Given the description of an element on the screen output the (x, y) to click on. 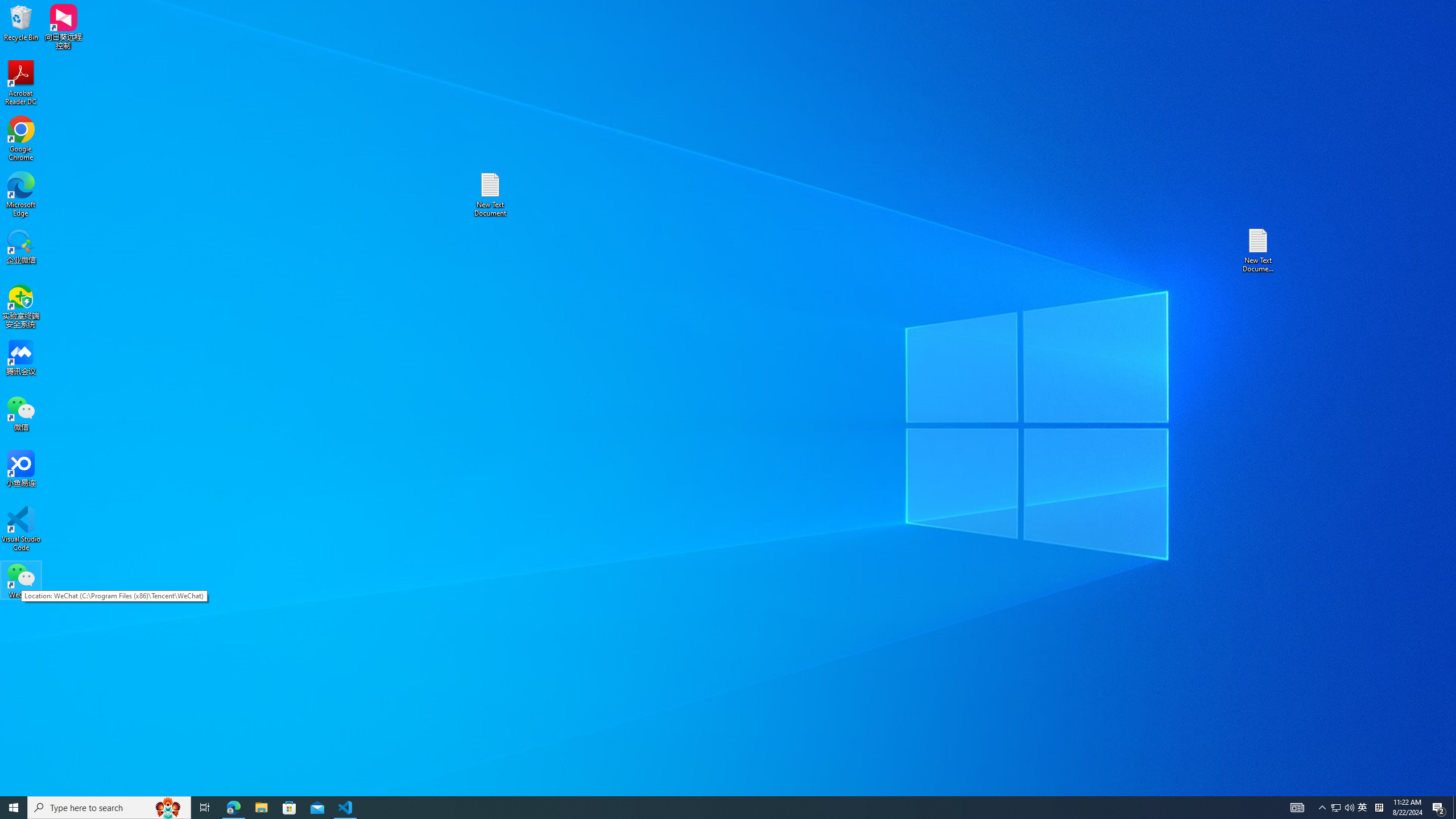
Recycle Bin (21, 22)
Microsoft Store (289, 807)
Microsoft Edge (21, 194)
AutomationID: 4105 (1297, 807)
File Explorer (261, 807)
Google Chrome (21, 138)
Type here to search (108, 807)
Visual Studio Code - 1 running window (345, 807)
Tray Input Indicator - Chinese (Simplified, China) (1378, 807)
New Text Document (2) (1258, 250)
Visual Studio Code (21, 528)
User Promoted Notification Area (1362, 807)
